Given the description of an element on the screen output the (x, y) to click on. 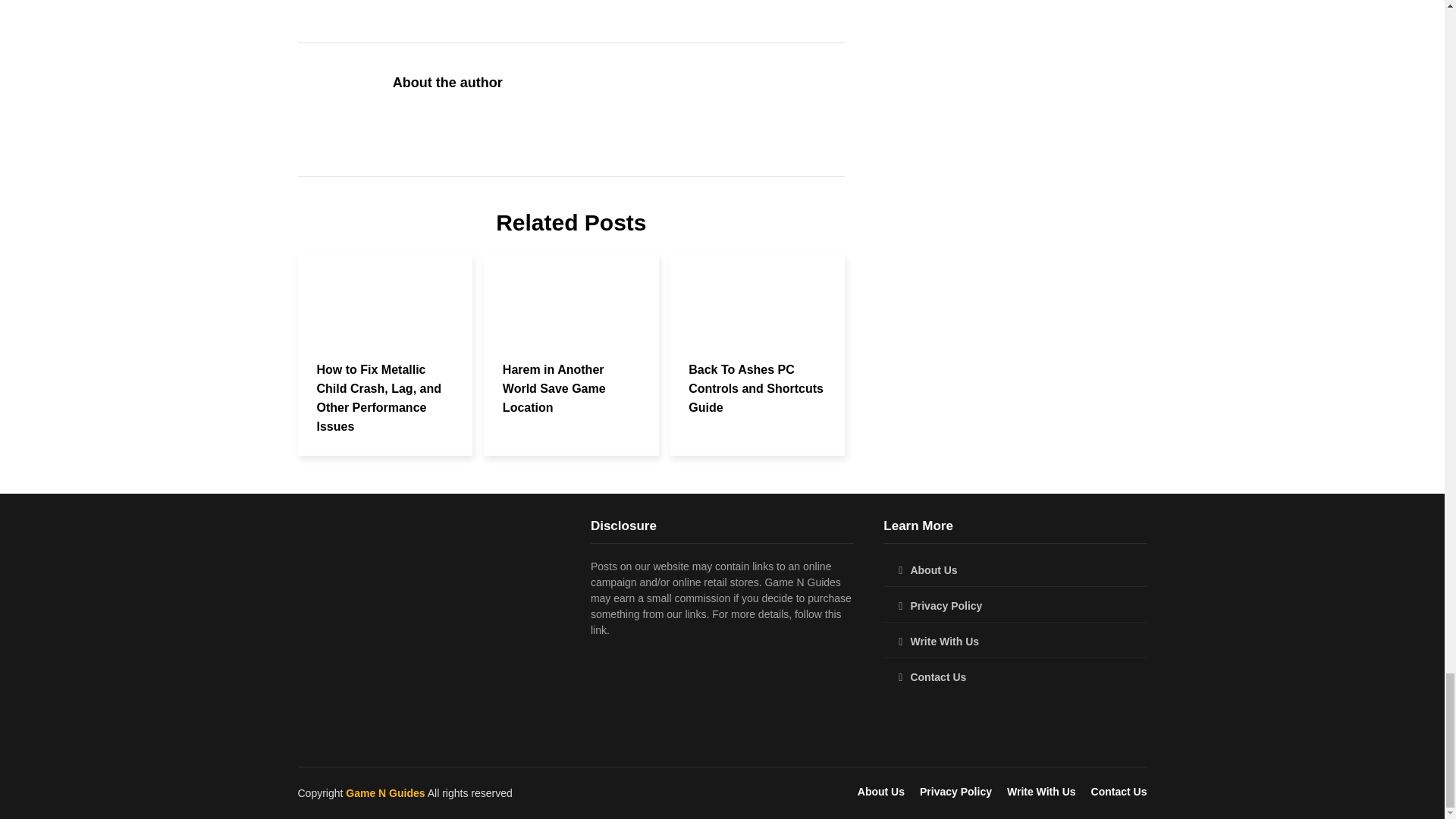
Harem in Another World Save Game Location (553, 388)
Back To Ashes PC Controls and Shortcuts Guide (756, 388)
